Given the description of an element on the screen output the (x, y) to click on. 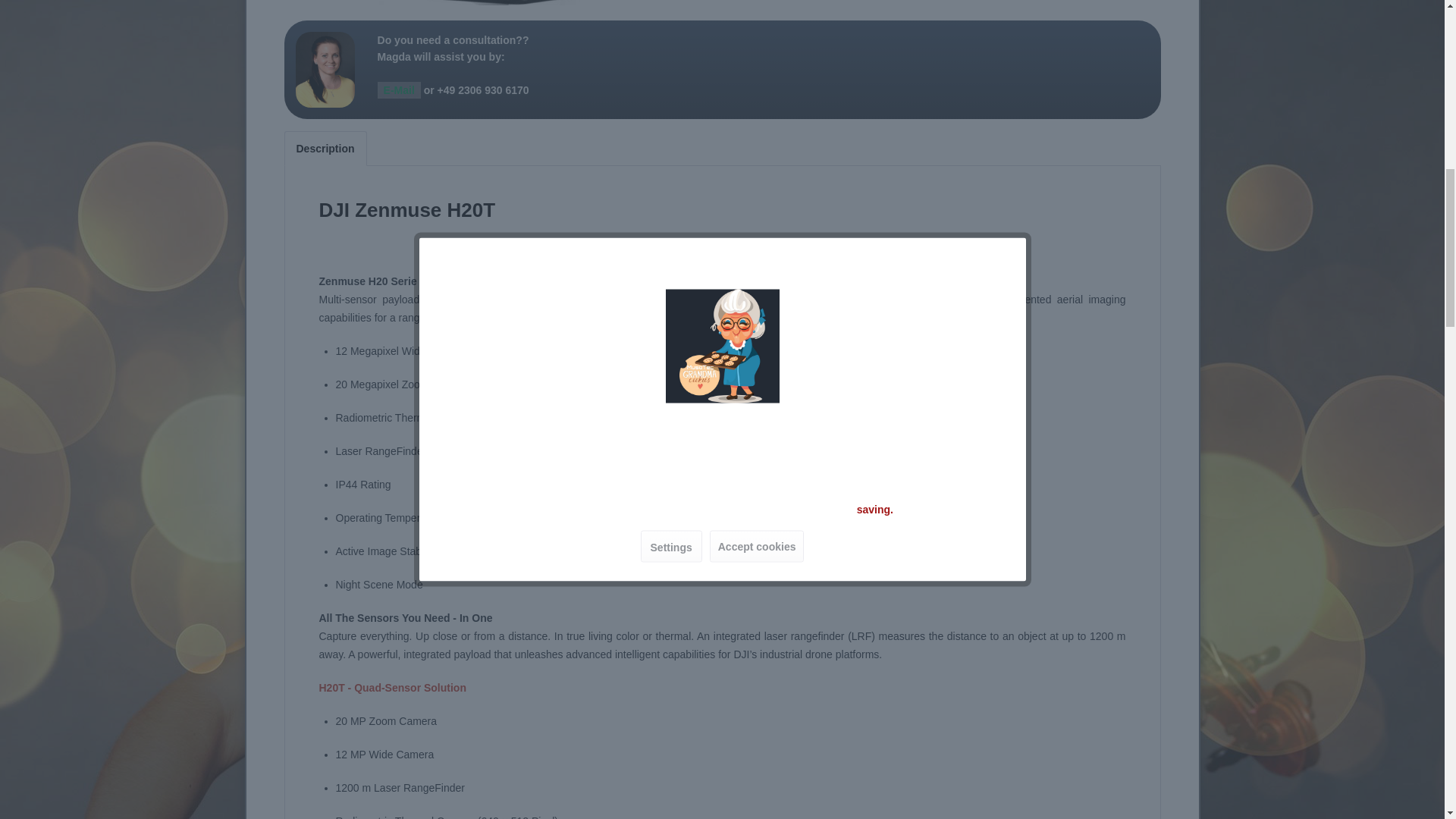
E-Mail (398, 89)
